Given the description of an element on the screen output the (x, y) to click on. 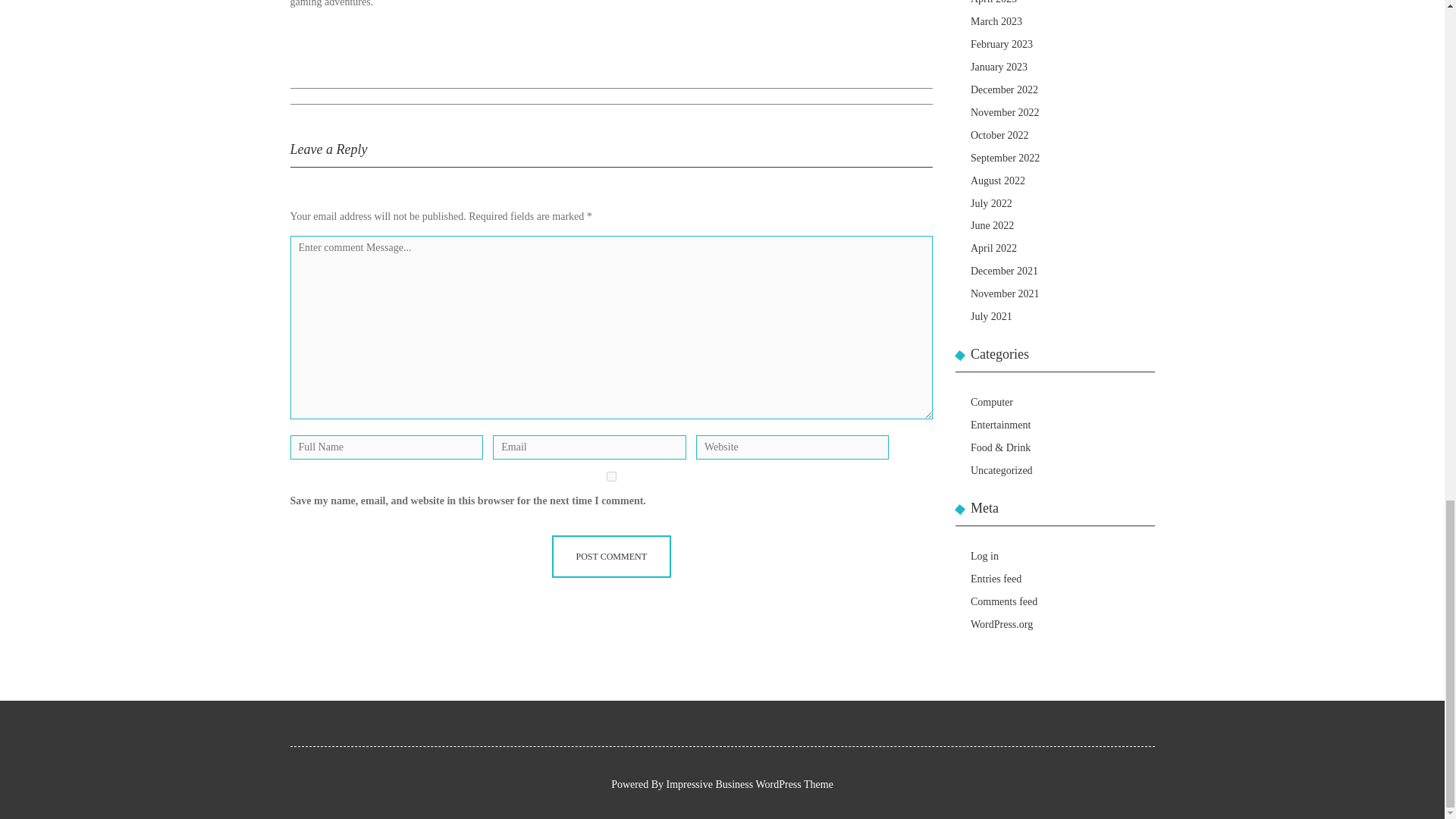
Post Comment (611, 556)
April 2023 (993, 2)
yes (611, 476)
Post Comment (611, 556)
